Given the description of an element on the screen output the (x, y) to click on. 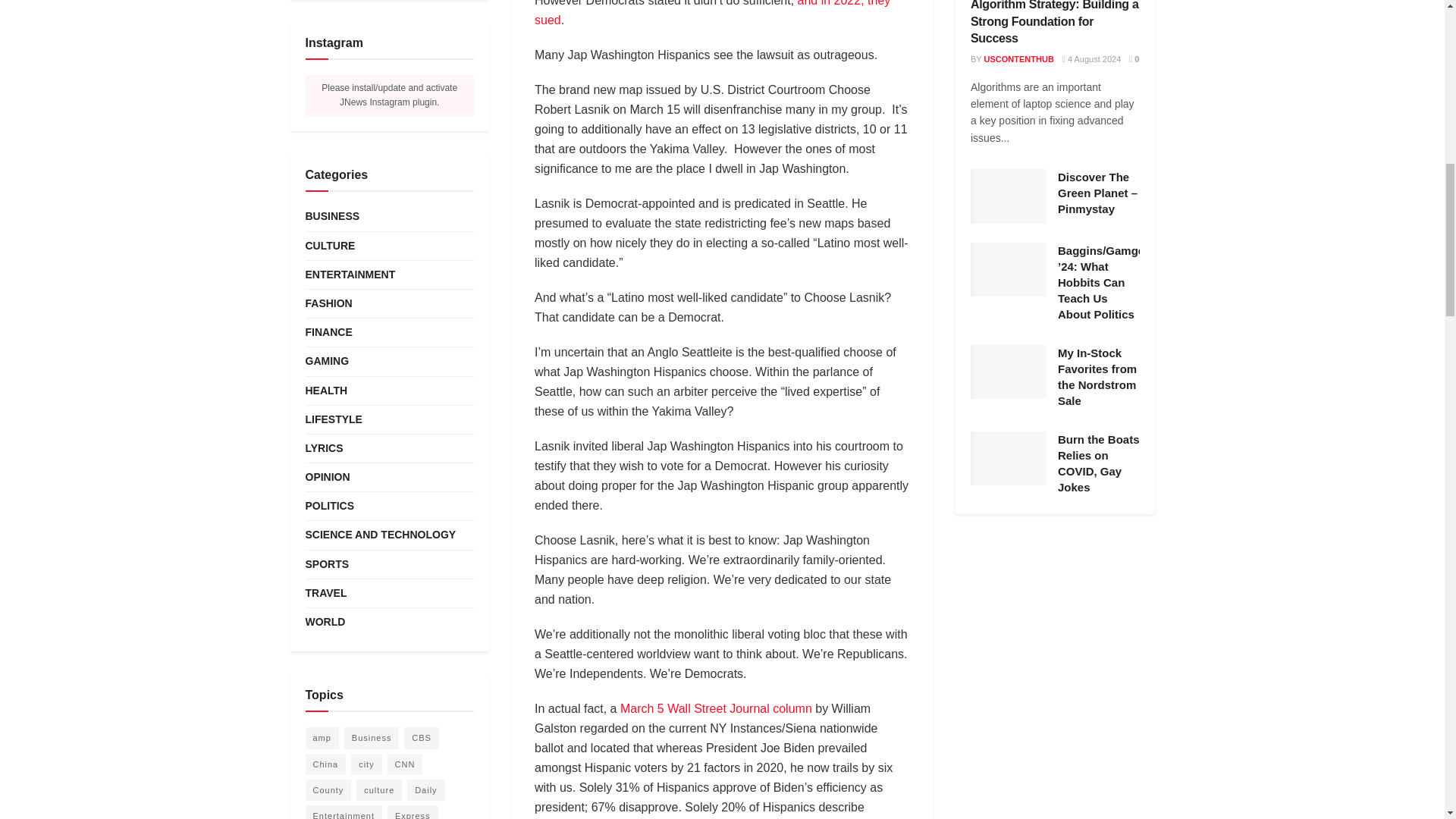
and in 2022, they sued (711, 13)
March 5 Wall Street Journal column (716, 707)
